Given the description of an element on the screen output the (x, y) to click on. 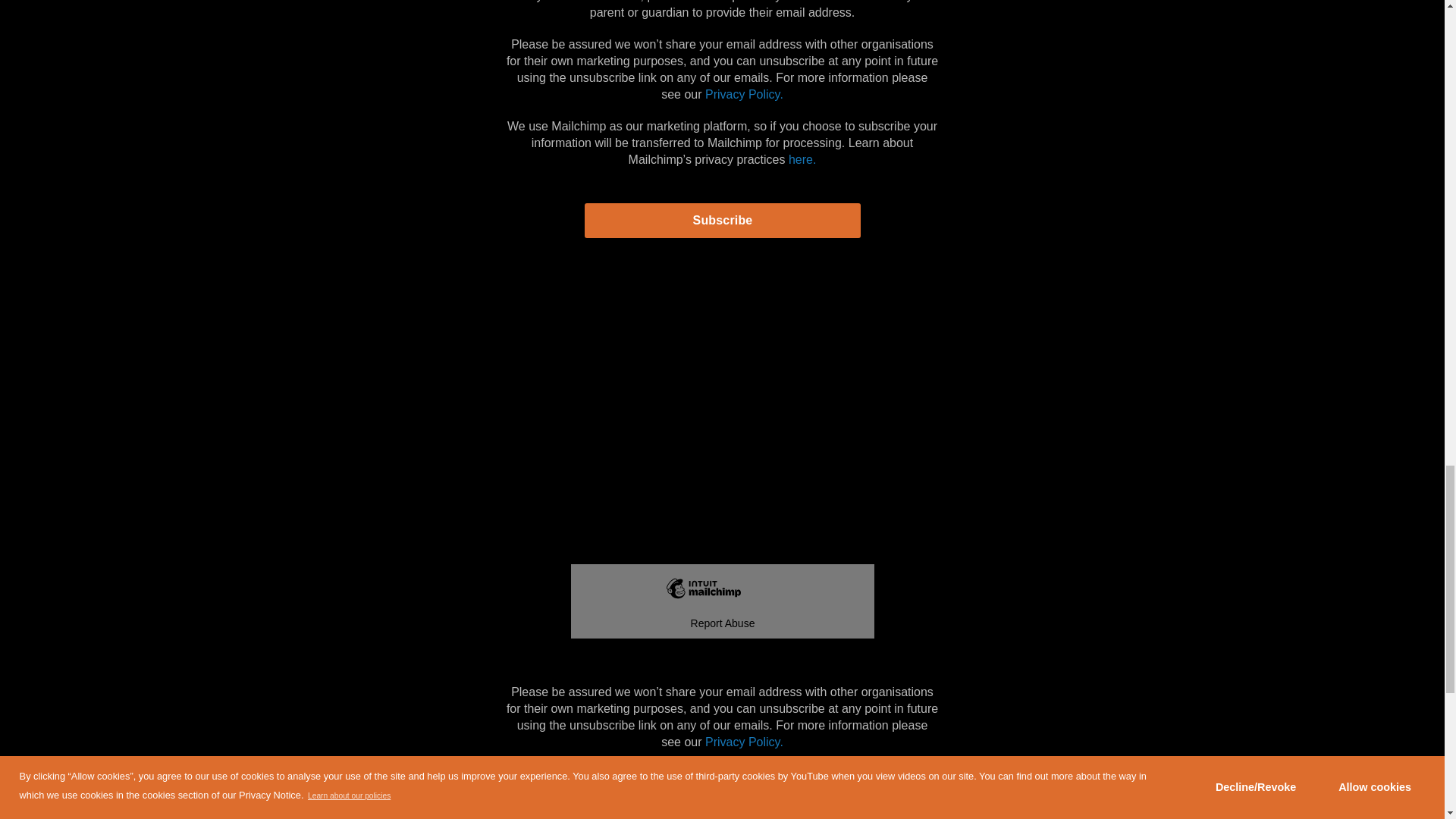
here. (802, 159)
Privacy Policy. (743, 93)
Privacy Policy. (743, 741)
here. (802, 807)
